Given the description of an element on the screen output the (x, y) to click on. 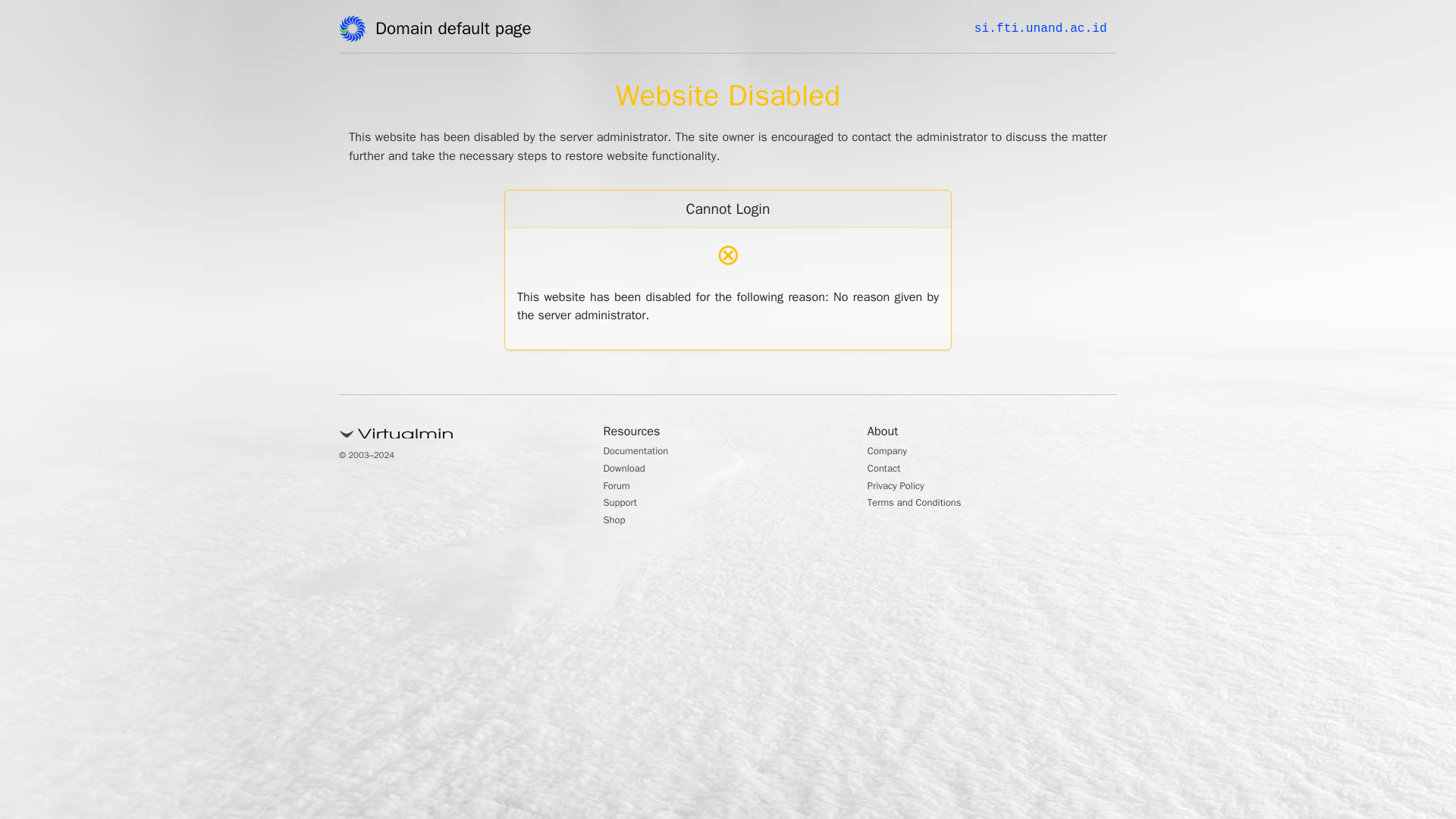
Privacy Policy (902, 487)
Download (629, 469)
Terms and Conditions (925, 503)
Shop (617, 521)
Documentation (644, 452)
Domain default page (457, 31)
Support (624, 503)
Contact (887, 469)
Forum (620, 487)
Company (891, 452)
